Given the description of an element on the screen output the (x, y) to click on. 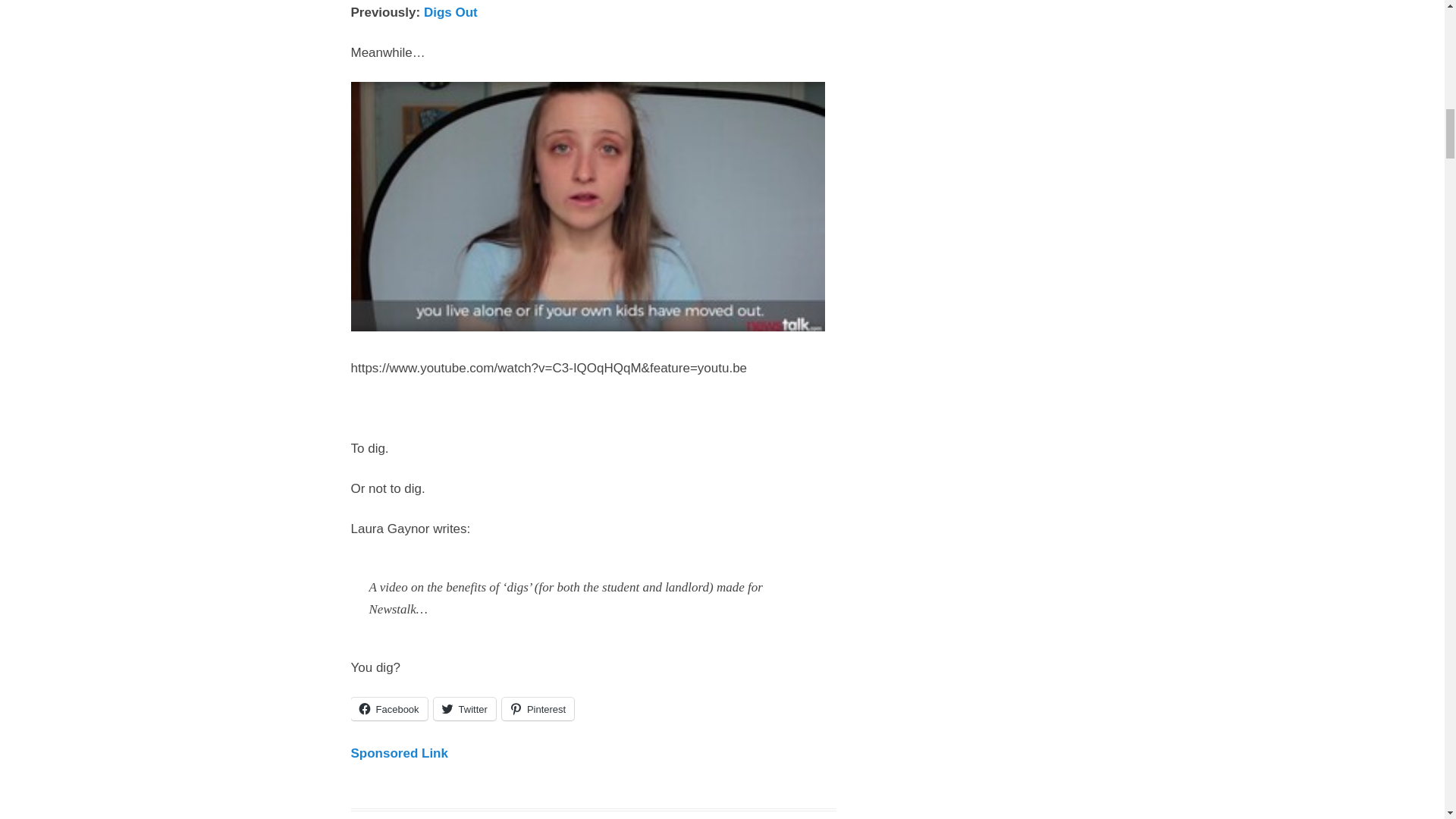
Click to share on Pinterest (537, 708)
Click to share on Twitter (464, 708)
Pinterest (537, 708)
Twitter (464, 708)
Digs Out (450, 11)
Facebook (388, 708)
Click to share on Facebook (388, 708)
